Given the description of an element on the screen output the (x, y) to click on. 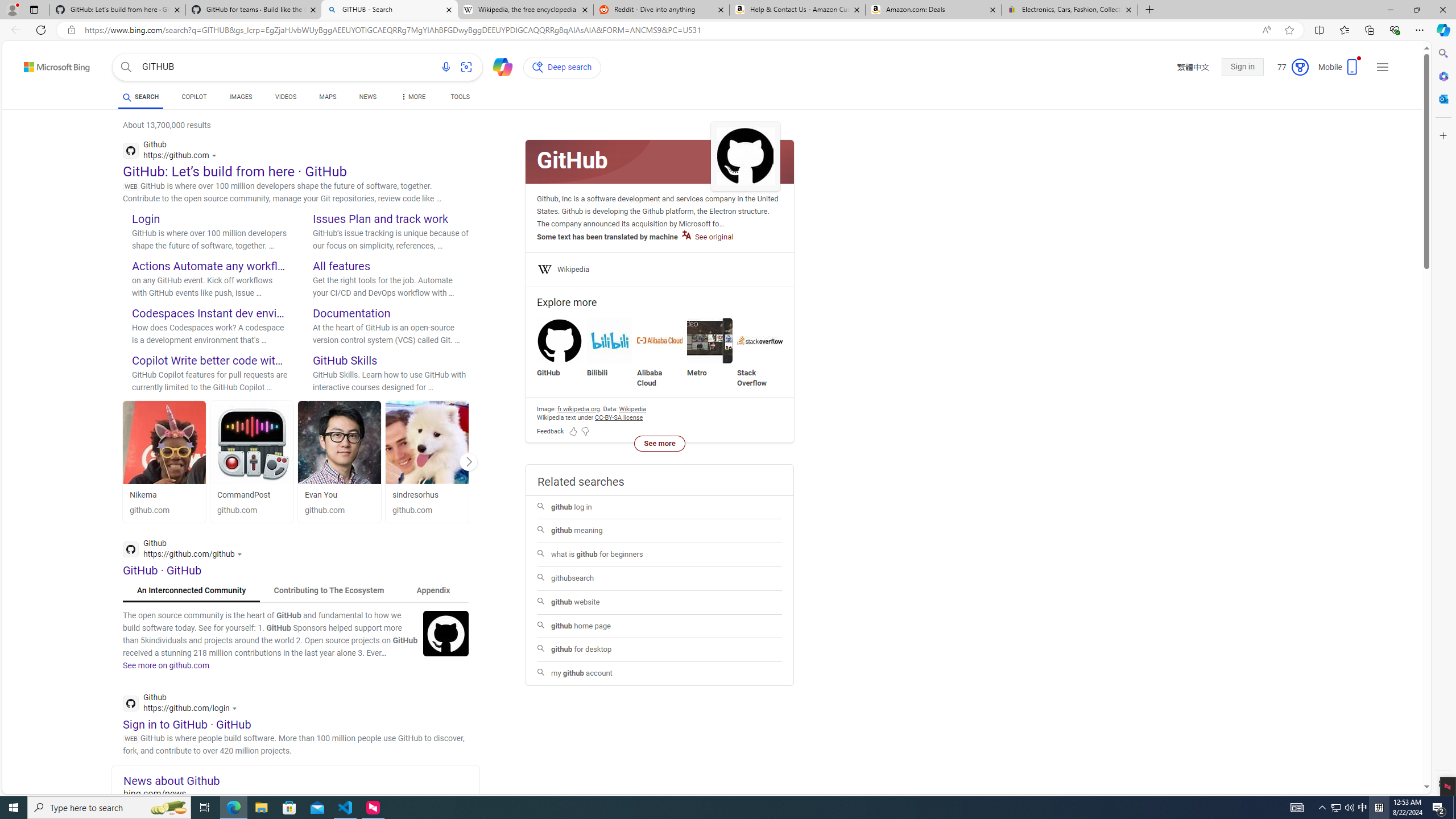
Nikema Nikema github.com (163, 461)
Alibaba Cloud (659, 340)
Stack Overflow (759, 340)
github home page (659, 626)
All features (341, 265)
Class: spl_logobg (659, 161)
Dropdown Menu (412, 96)
Amazon.com: Deals (933, 9)
Wikipedia, the free encyclopedia (525, 9)
COPILOT (193, 98)
Image attribution fr.wikipedia.org (578, 408)
